Given the description of an element on the screen output the (x, y) to click on. 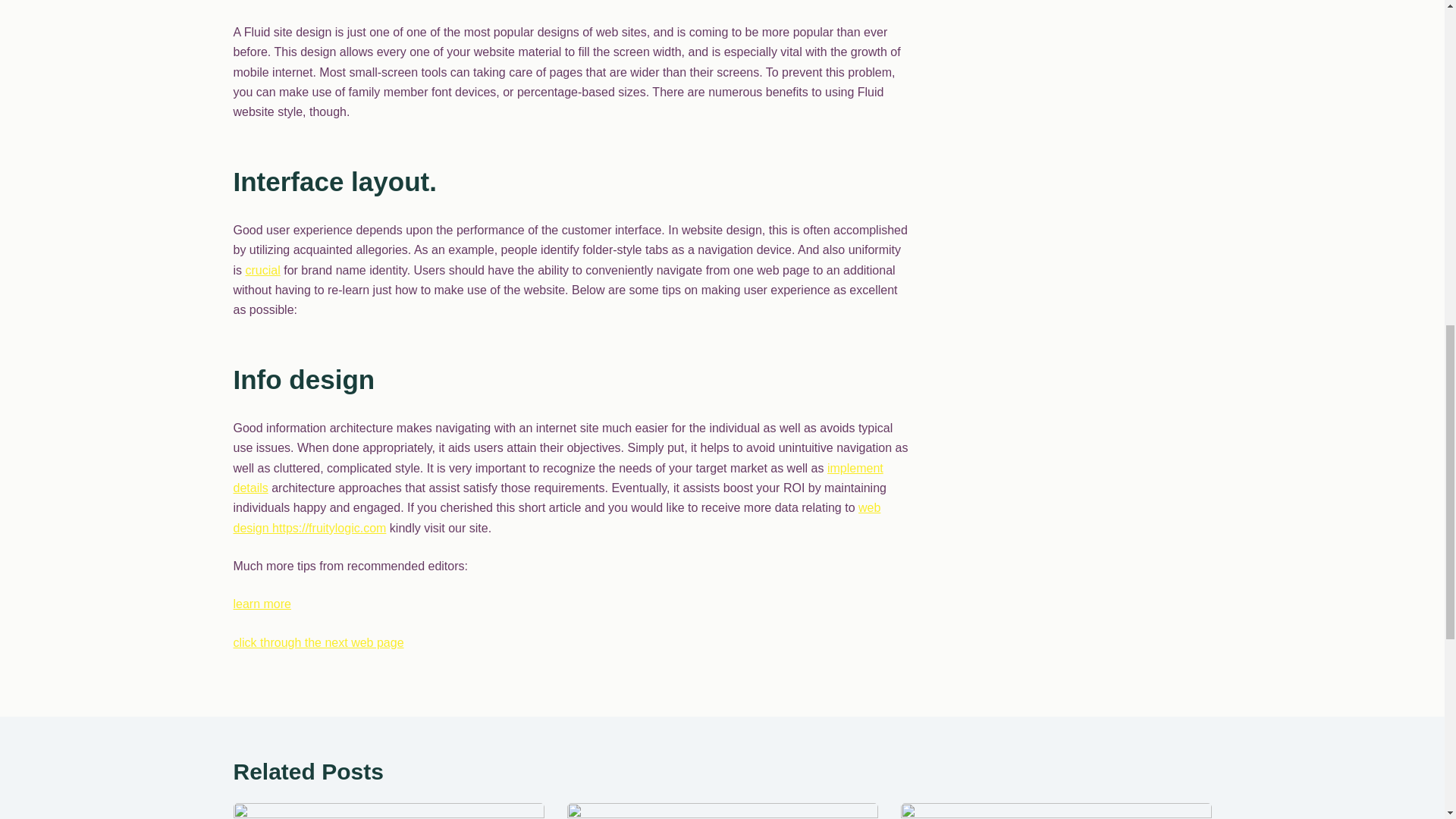
click through the next web page (318, 642)
implement details (557, 477)
crucial (263, 269)
learn more (261, 603)
